Given the description of an element on the screen output the (x, y) to click on. 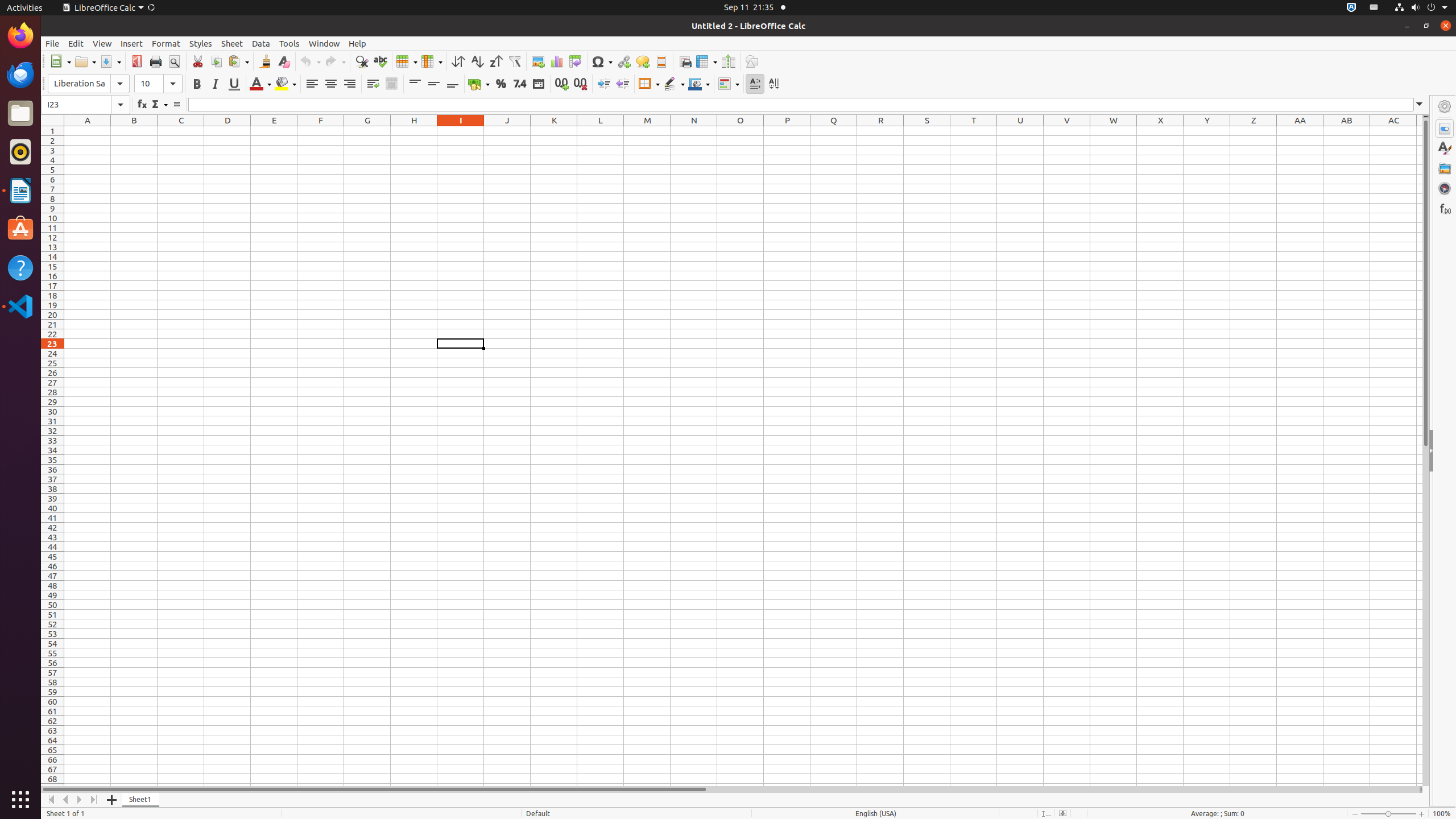
Background Color Element type: push-button (285, 83)
Align Center Element type: push-button (330, 83)
Headers and Footers Element type: push-button (660, 61)
Copy Element type: push-button (216, 61)
AA1 Element type: table-cell (1299, 130)
